Given the description of an element on the screen output the (x, y) to click on. 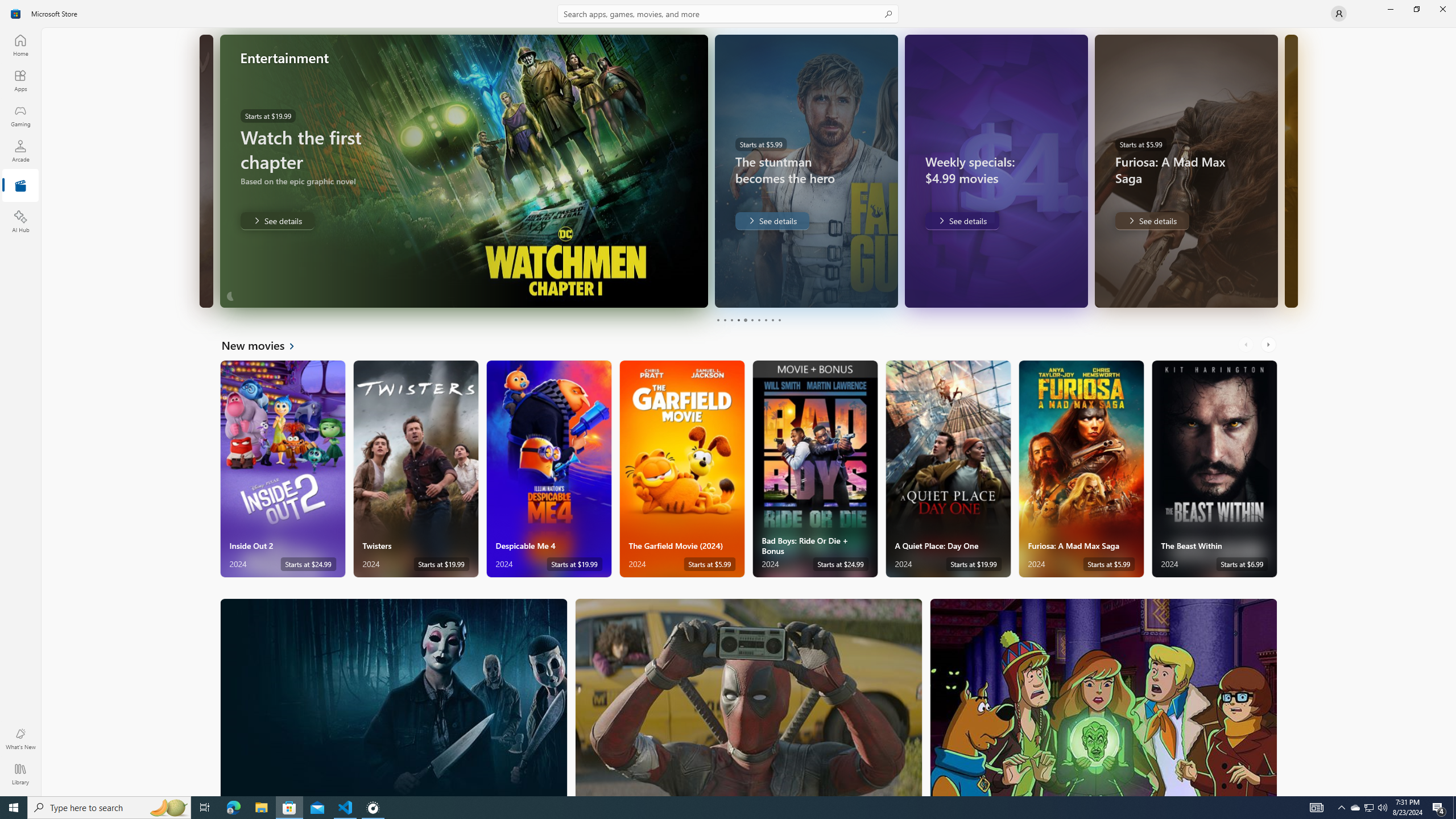
Page 10 (779, 319)
Page 3 (731, 319)
Search (727, 13)
Page 7 (758, 319)
Page 6 (751, 319)
Page 8 (764, 319)
